Given the description of an element on the screen output the (x, y) to click on. 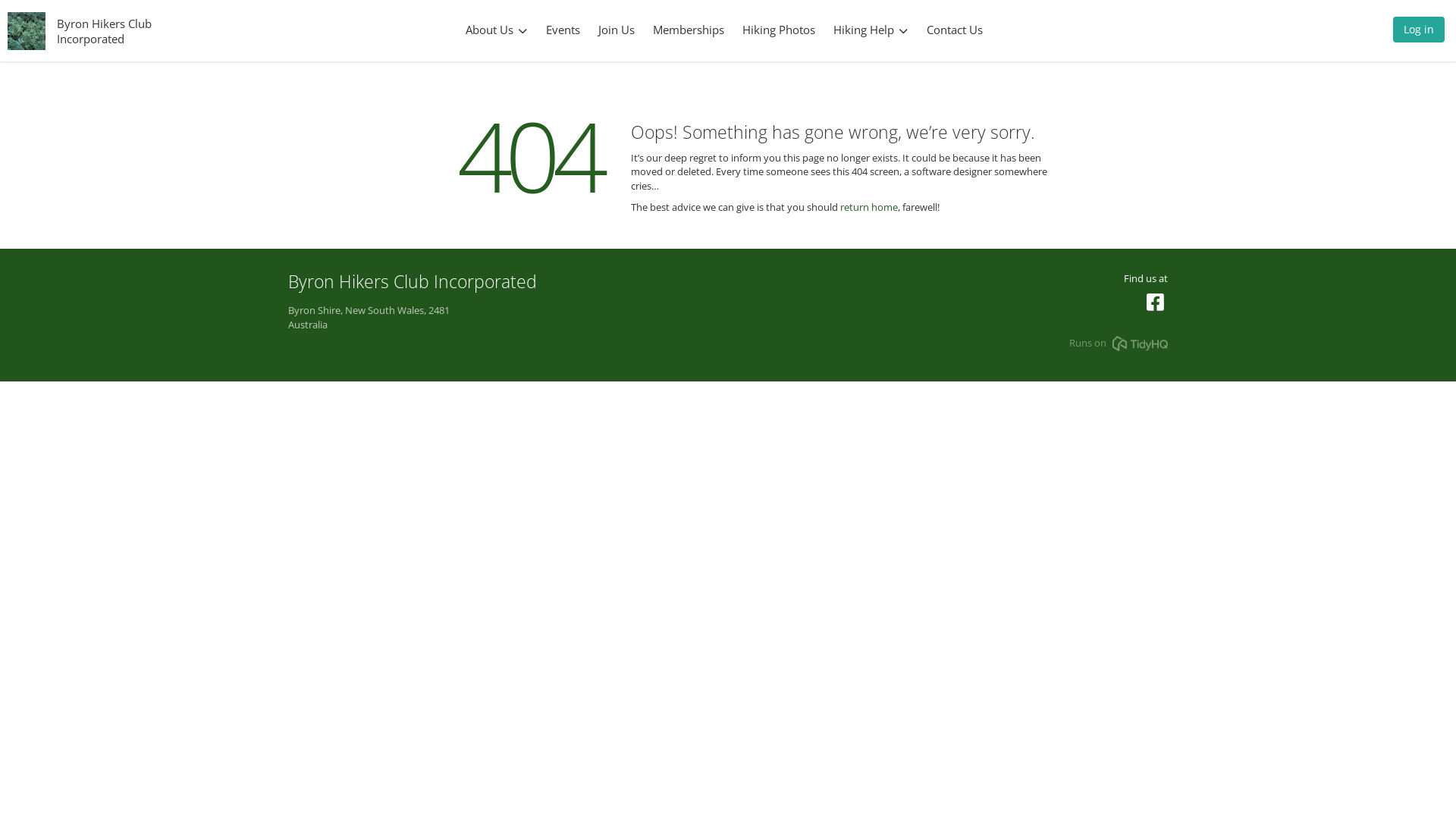
Hiking Photos Element type: text (778, 29)
Join Us Element type: text (616, 29)
Log in Element type: text (1418, 32)
About Us Element type: text (496, 29)
ByronHikers Element type: hover (1155, 305)
Byron Hikers Club Incorporated Element type: text (103, 30)
Memberships Element type: text (688, 29)
return home Element type: text (868, 206)
Events Element type: text (562, 29)
Hiking Help Element type: text (870, 29)
Contact Us Element type: text (954, 29)
